Given the description of an element on the screen output the (x, y) to click on. 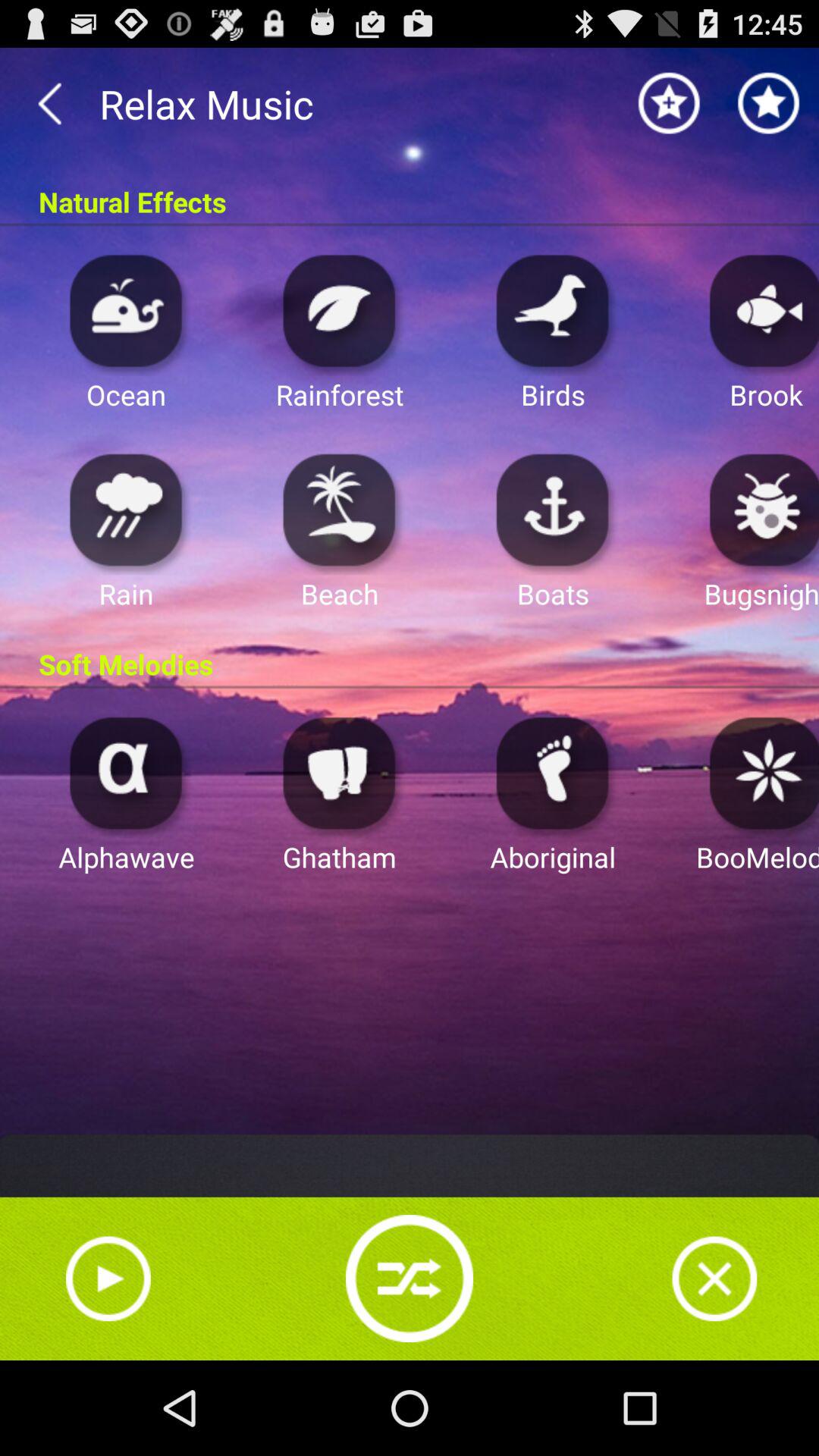
close app (714, 1278)
